Given the description of an element on the screen output the (x, y) to click on. 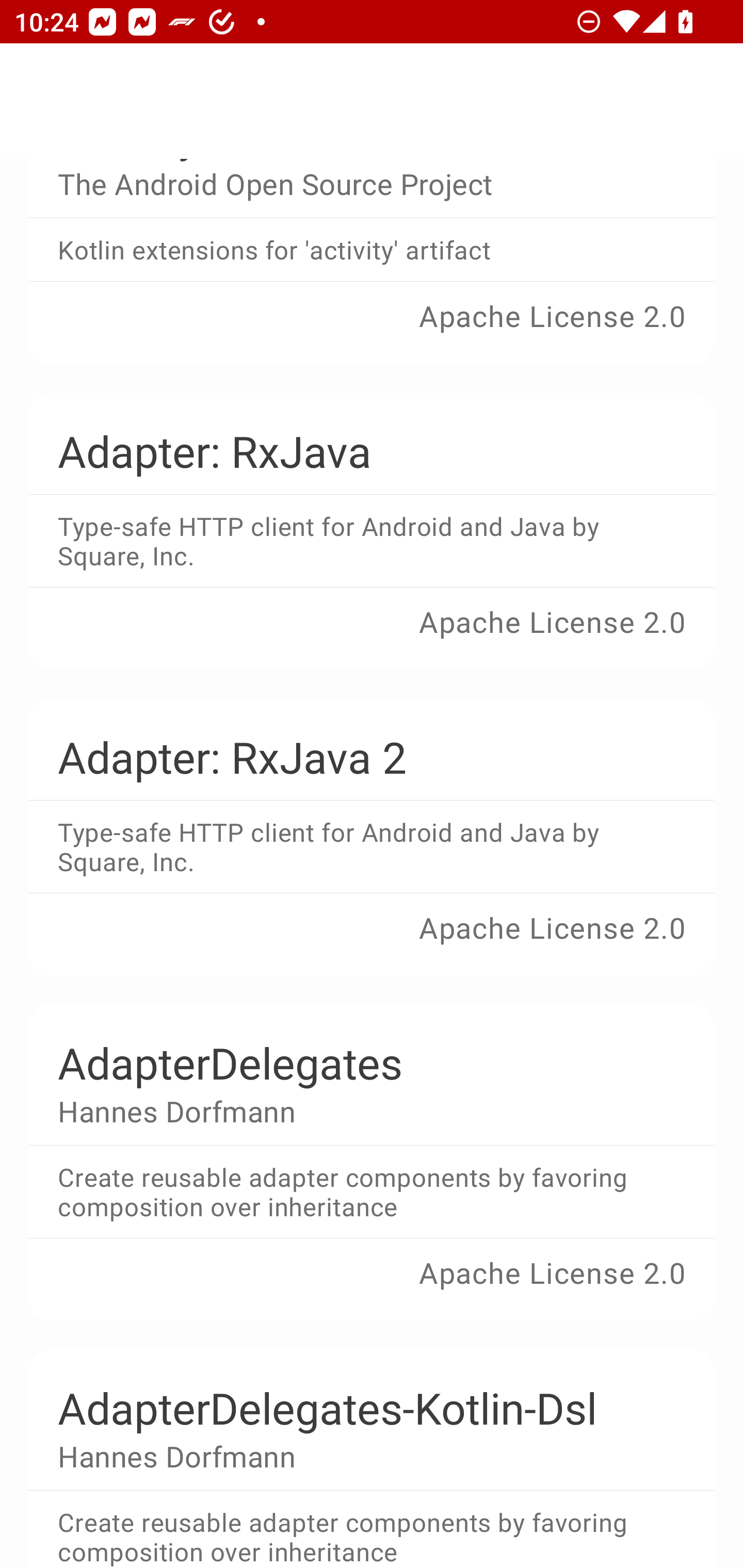
The Android Open Source Project (356, 183)
Apache License 2.0 (371, 329)
Apache License 2.0 (371, 635)
Apache License 2.0 (371, 941)
Hannes Dorfmann (356, 1110)
Apache License 2.0 (371, 1286)
Hannes Dorfmann (356, 1455)
